Given the description of an element on the screen output the (x, y) to click on. 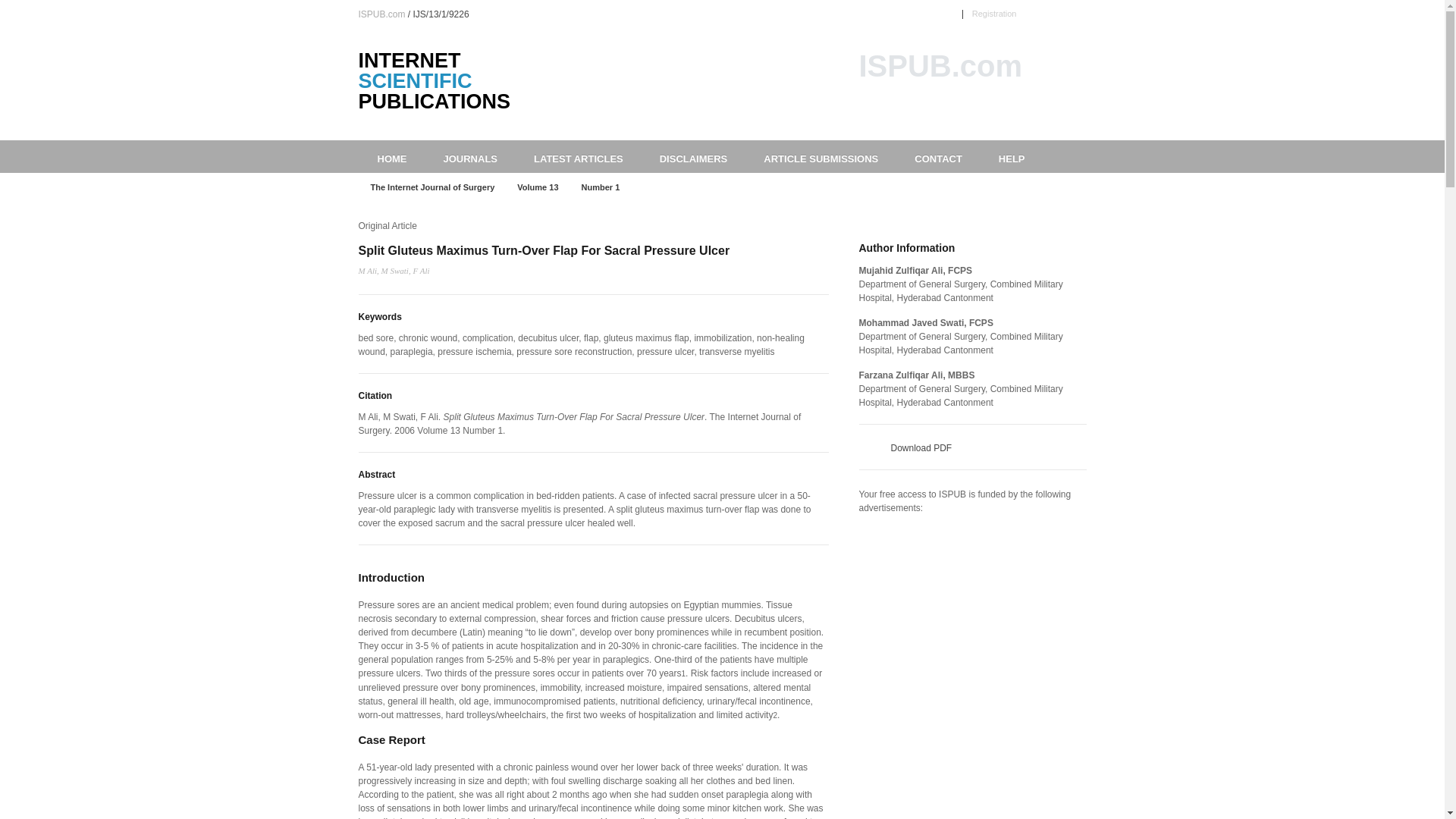
Search (1074, 107)
JOURNALS (470, 156)
Google Plus (1080, 13)
Search (1074, 107)
The Internet Journal of Surgery (432, 187)
Volume 13 (537, 187)
CONTACT (937, 156)
DISCLAIMERS (693, 156)
HELP (1011, 156)
LATEST ARTICLES (578, 156)
Registration (994, 13)
Facebook (1062, 13)
HOME (391, 156)
Search... (960, 107)
